Given the description of an element on the screen output the (x, y) to click on. 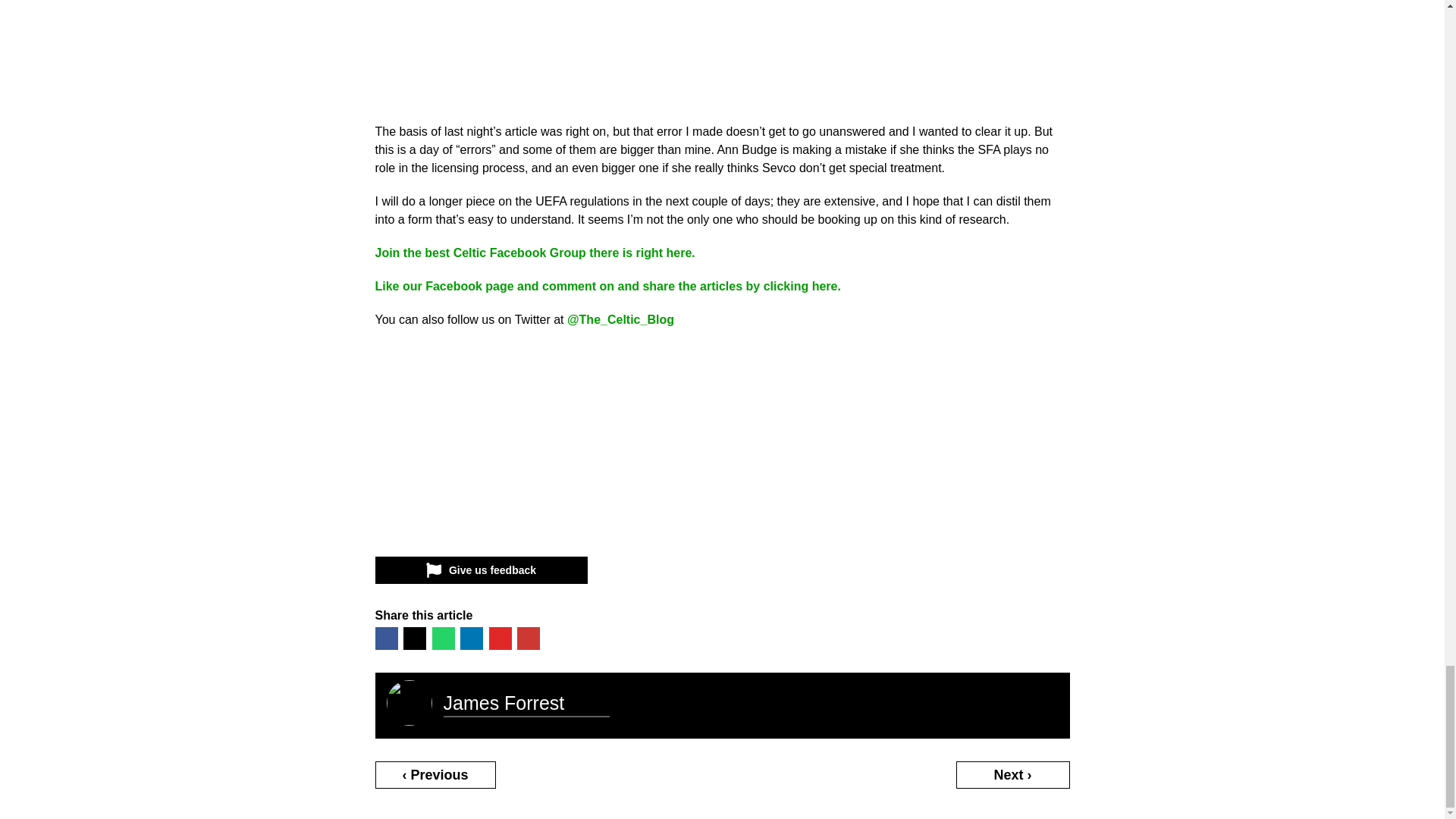
Give us feedback (480, 569)
Join the best Celtic Facebook Group there is right here. (534, 252)
